Given the description of an element on the screen output the (x, y) to click on. 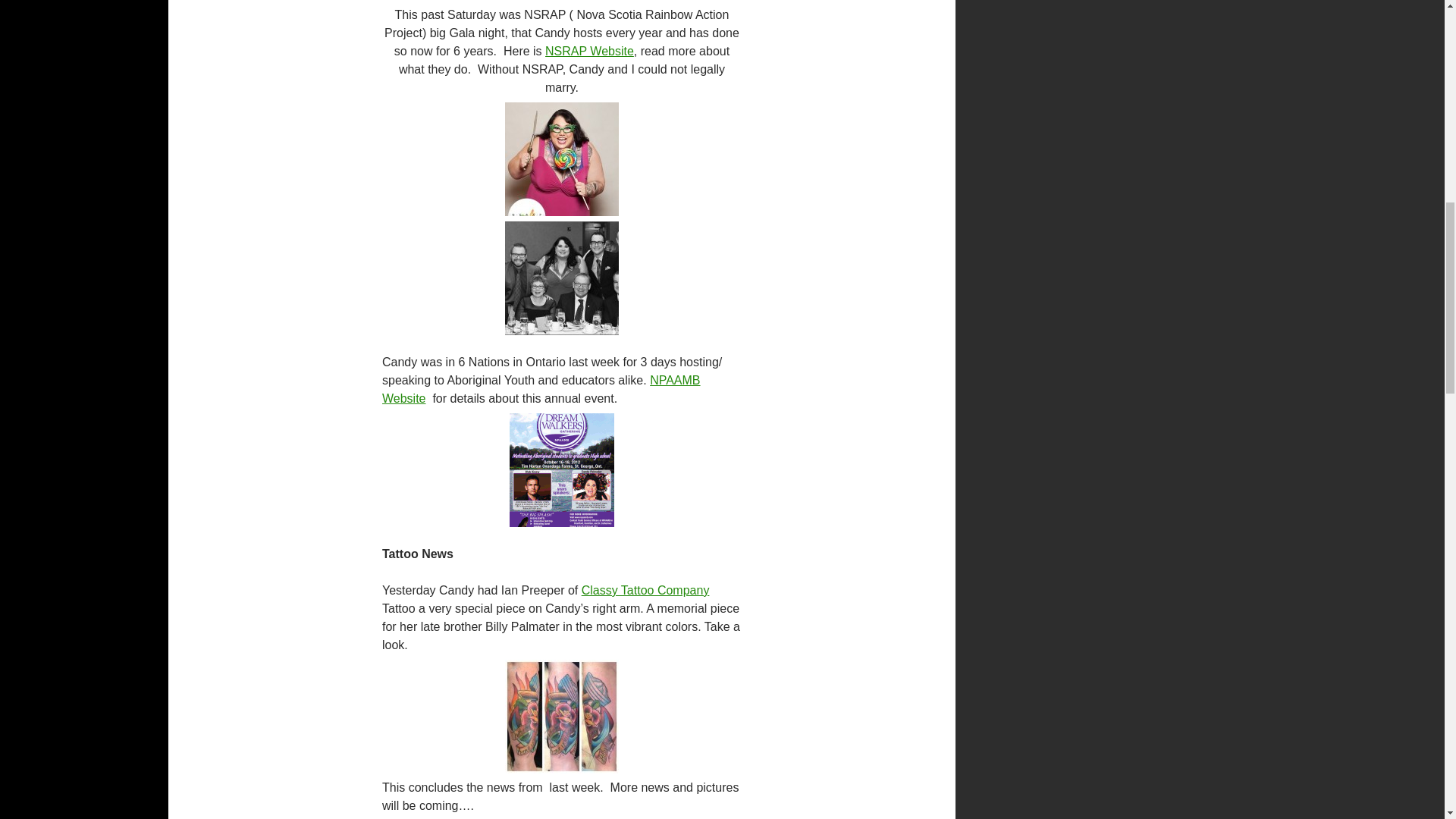
Candy's new tattoo (561, 716)
NPAAMB Website (540, 388)
NSRAP Website (588, 51)
Classy Tattoo Company (645, 590)
Candy NSRAP fun photo booth (561, 159)
NSRAP Candy with Premiere, Darrell Dexter (561, 277)
